Given the description of an element on the screen output the (x, y) to click on. 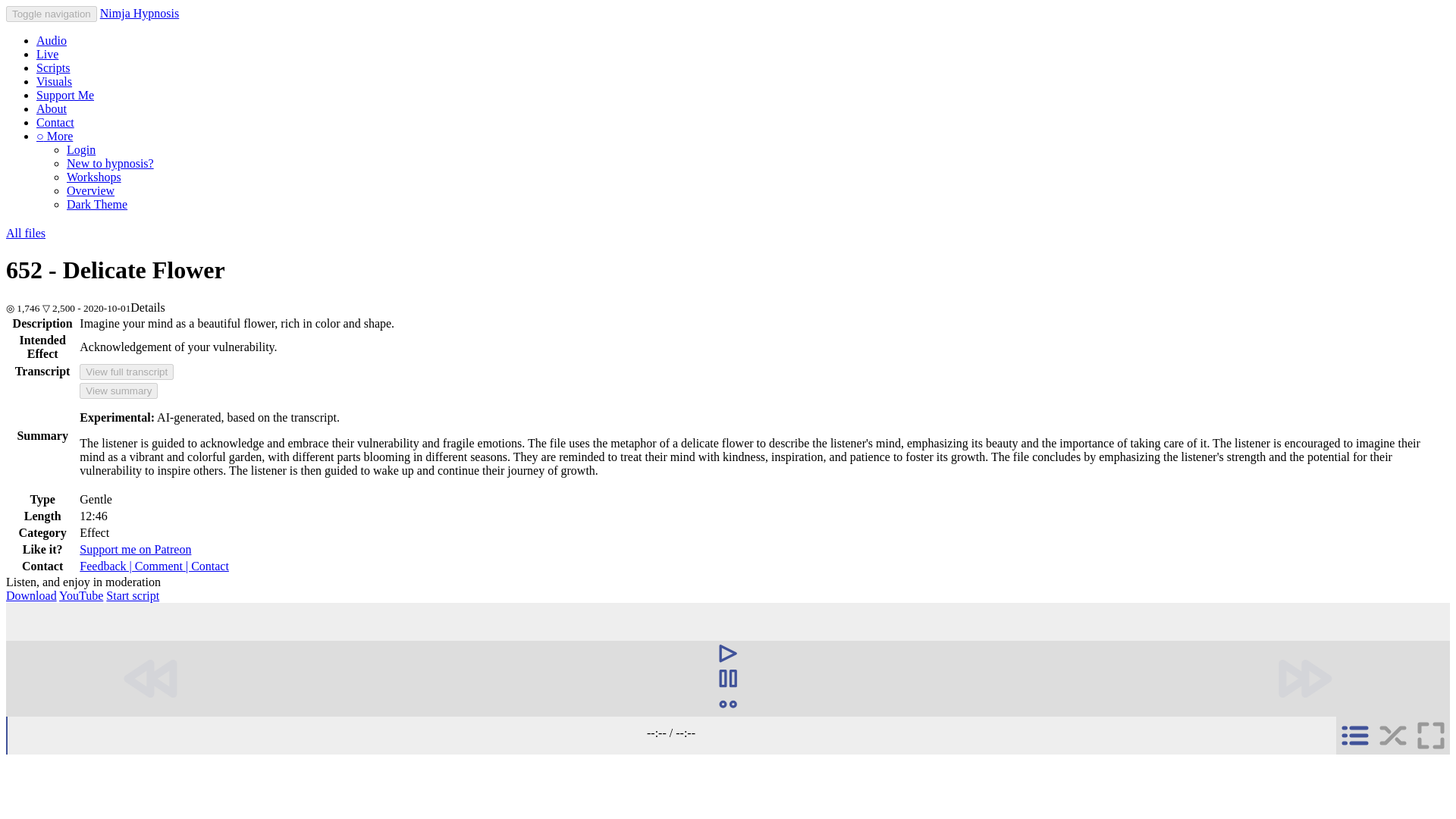
YouTube (81, 594)
View summary (118, 390)
Toggle navigation (51, 13)
About (51, 108)
Support me on Patreon (135, 549)
Start Interactive Induction Script 652 - Delicate Flower (132, 594)
Contact (55, 122)
Start script (132, 594)
Support Me (65, 94)
Scripts (52, 67)
